Given the description of an element on the screen output the (x, y) to click on. 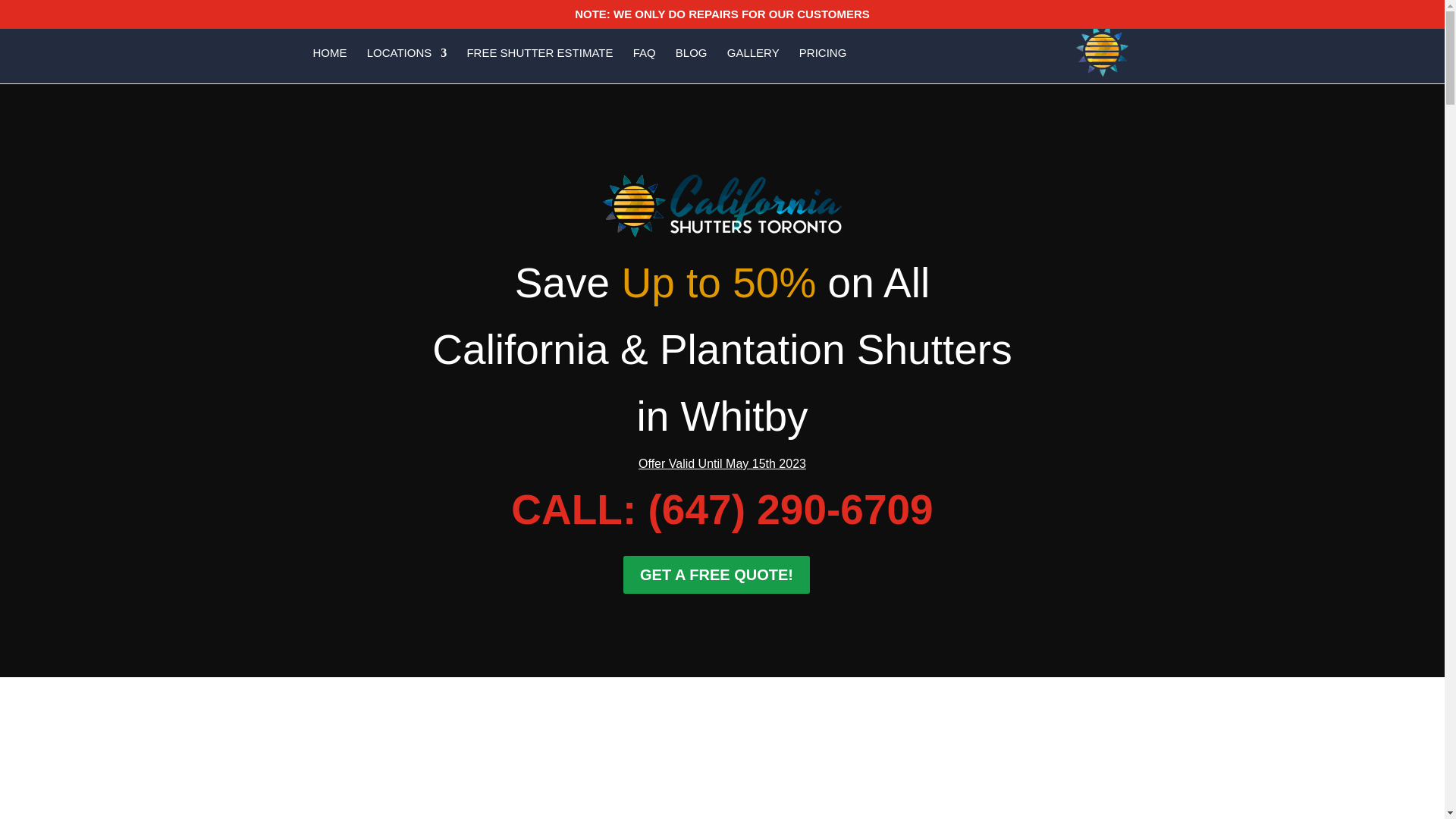
GALLERY (752, 65)
PRICING (823, 65)
FREE SHUTTER ESTIMATE (538, 65)
NOTE: WE ONLY DO REPAIRS FOR OUR CUSTOMERS (722, 17)
HOME (329, 65)
LOCATIONS (406, 65)
BLOG (691, 65)
